Given the description of an element on the screen output the (x, y) to click on. 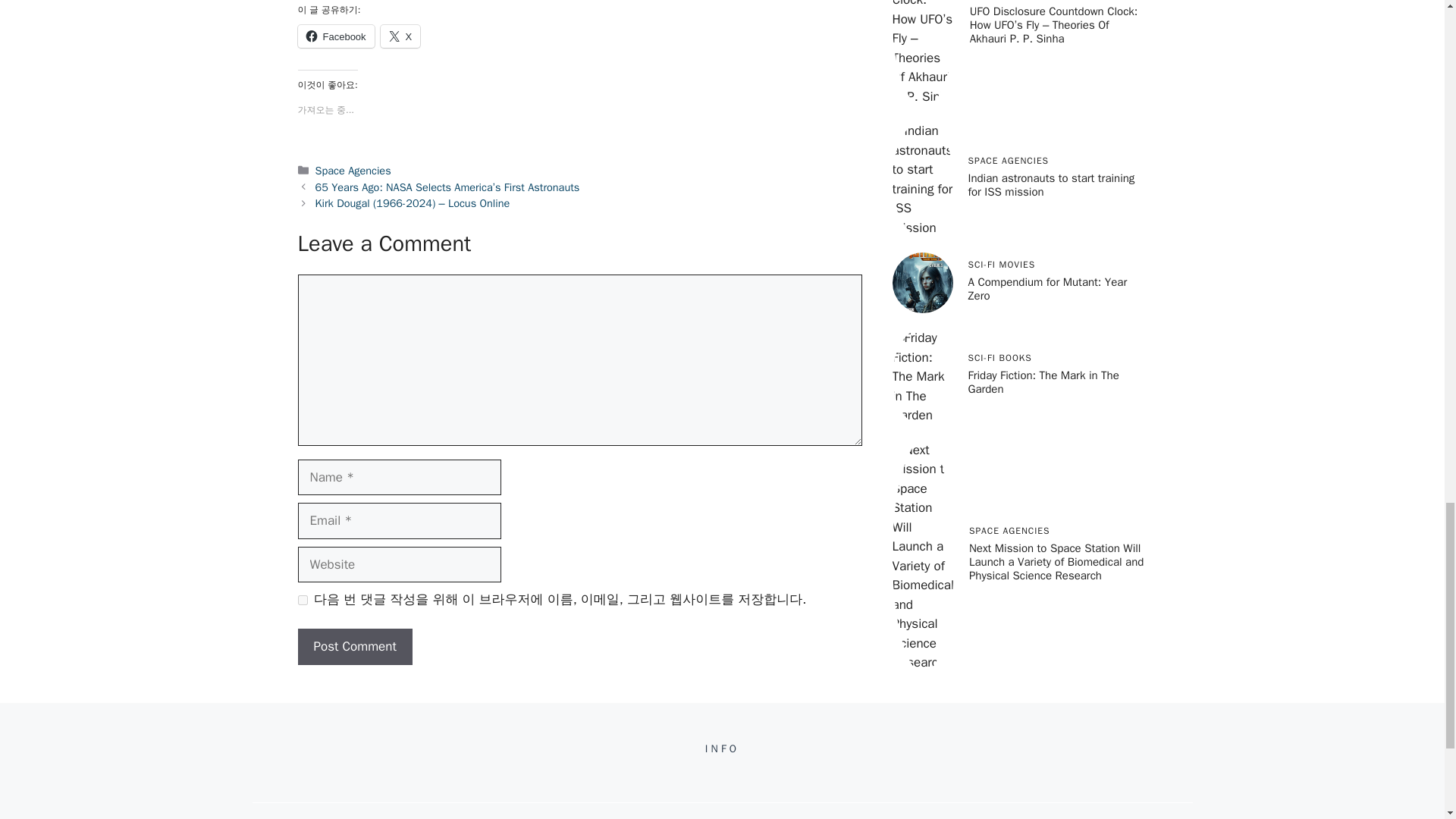
Post Comment (354, 646)
yes (302, 600)
